Given the description of an element on the screen output the (x, y) to click on. 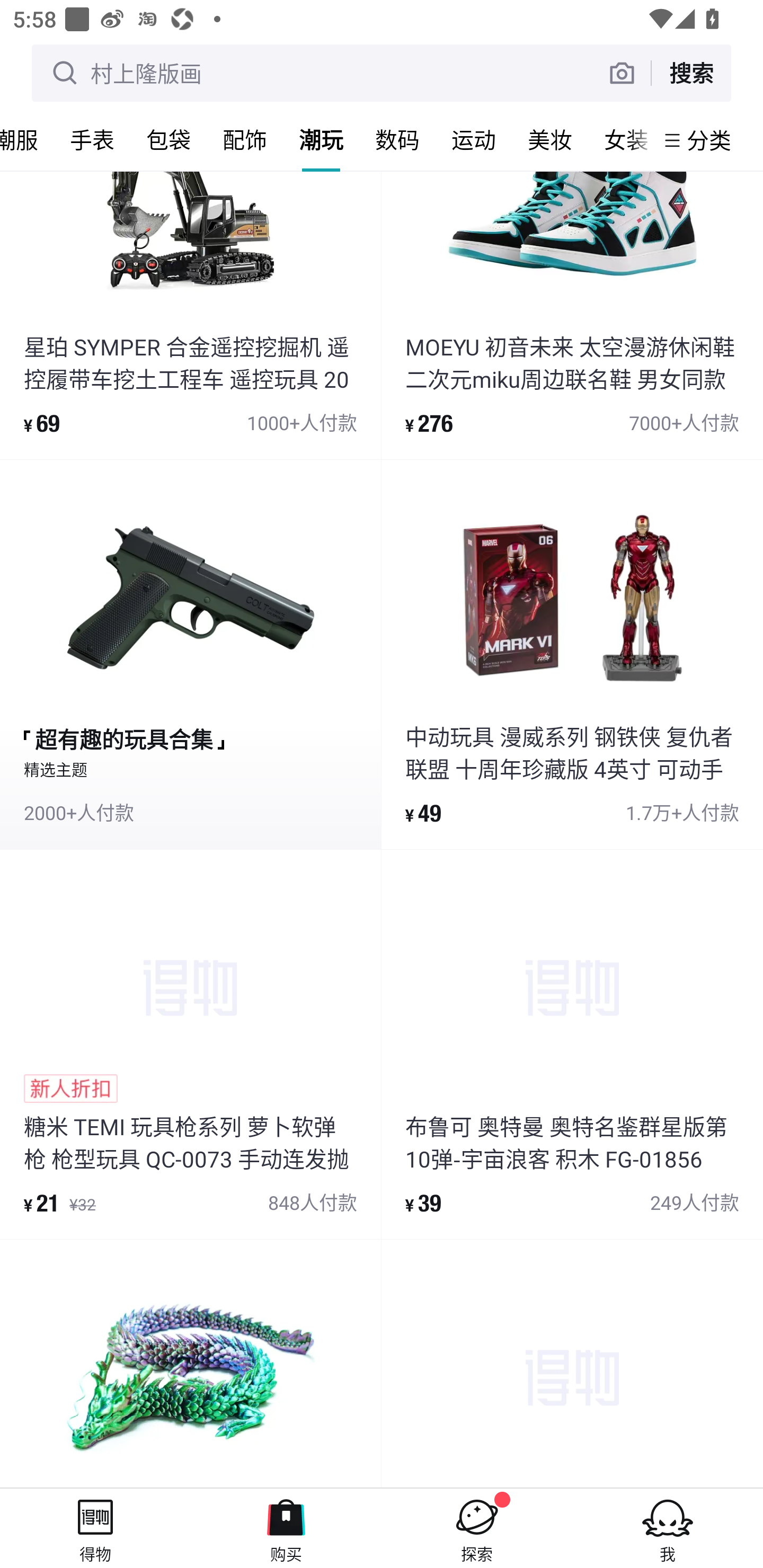
搜索 (690, 72)
潮服 (27, 139)
手表 (92, 139)
包袋 (168, 139)
配饰 (244, 139)
潮玩 (321, 139)
数码 (397, 139)
运动 (473, 139)
美妆 (549, 139)
女装 (621, 139)
分类 (708, 139)
超有趣的玩具合集 精选主题 2000+人付款 (190, 654)
得物 (95, 1528)
购买 (285, 1528)
探索 (476, 1528)
我 (667, 1528)
